Given the description of an element on the screen output the (x, y) to click on. 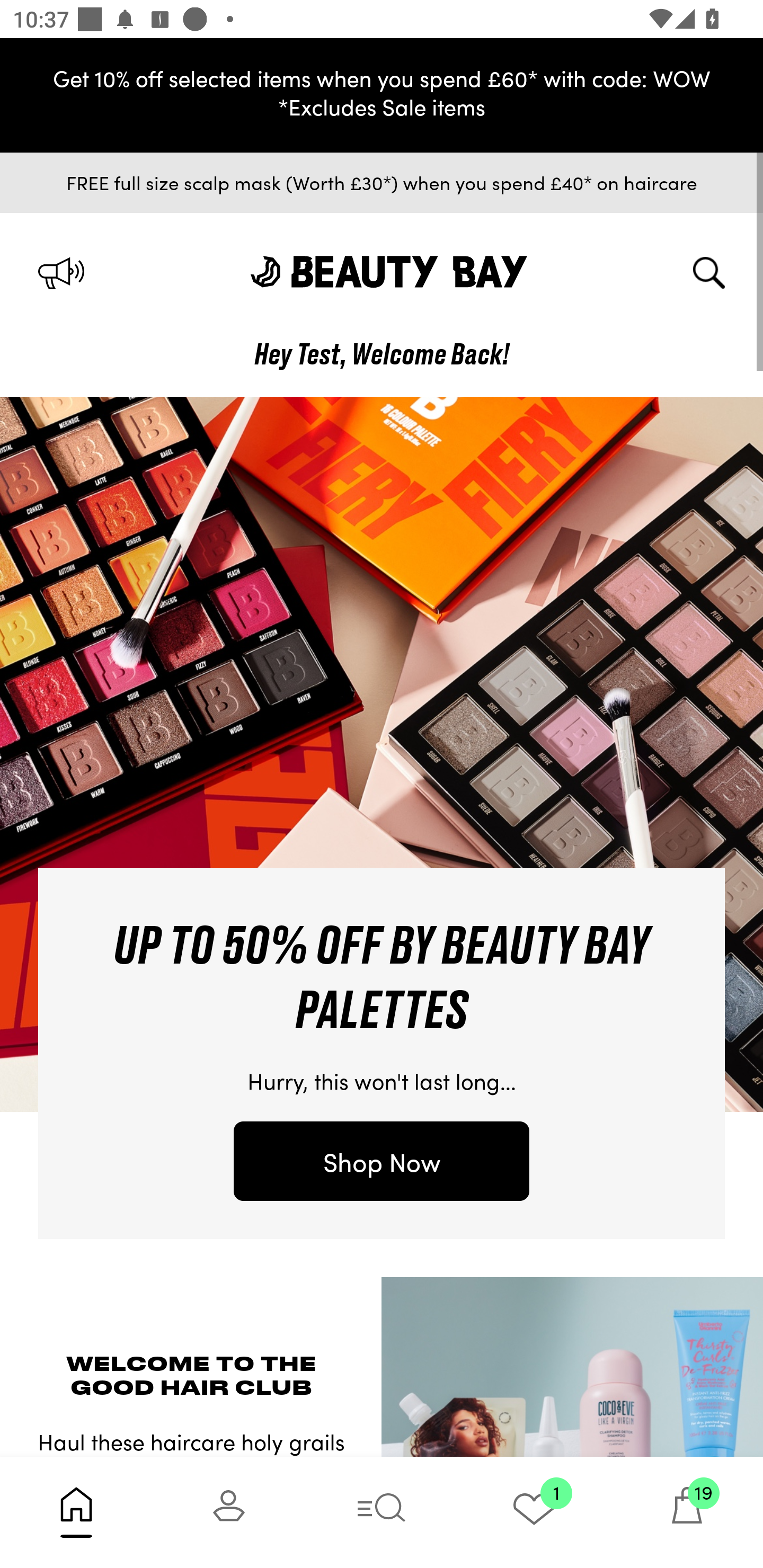
1 (533, 1512)
19 (686, 1512)
